Given the description of an element on the screen output the (x, y) to click on. 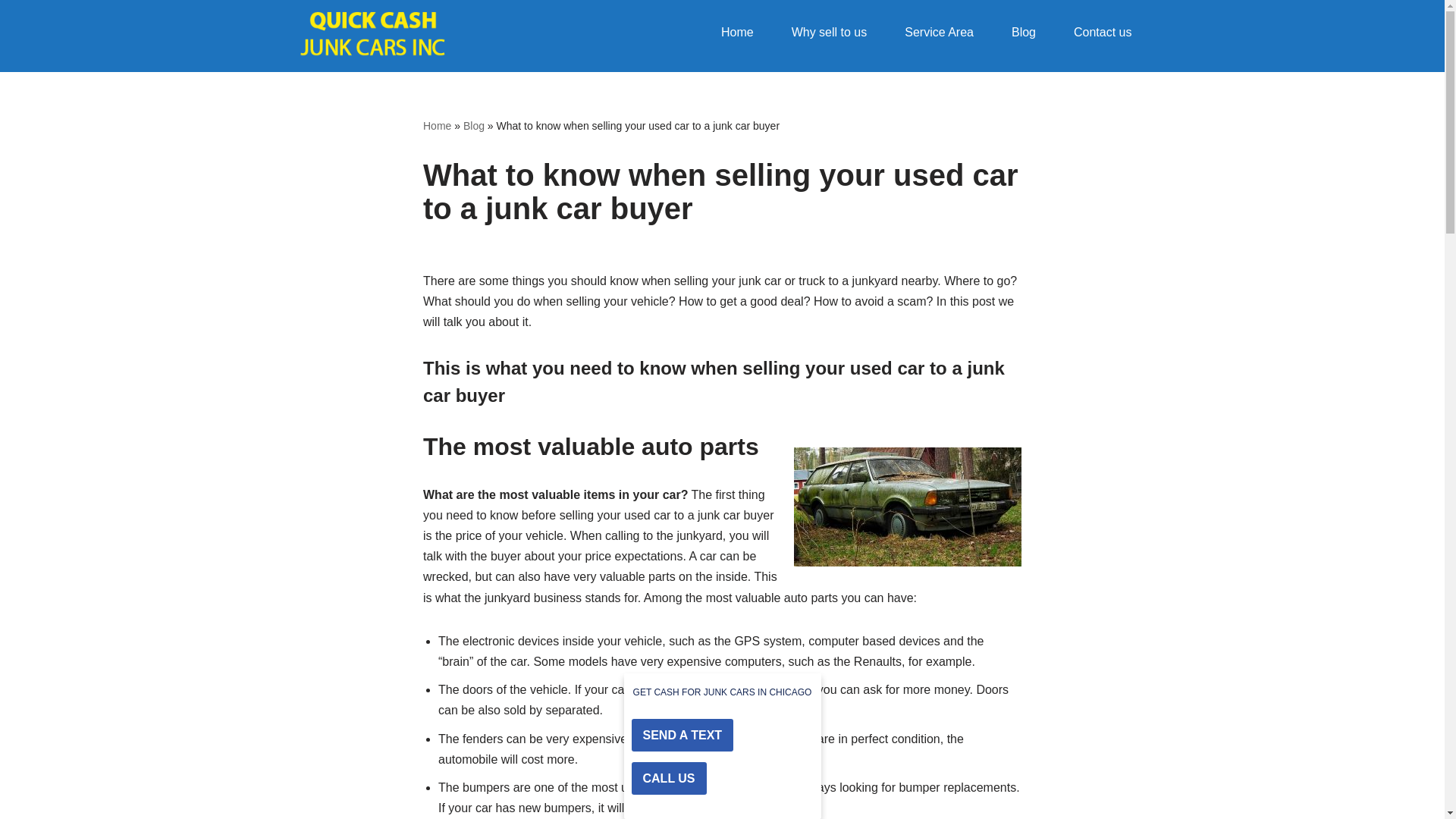
Skip to content (11, 31)
Home (737, 32)
Blog (1023, 32)
Why sell to us (829, 32)
Service Area (938, 32)
Contact us (1102, 32)
